Given the description of an element on the screen output the (x, y) to click on. 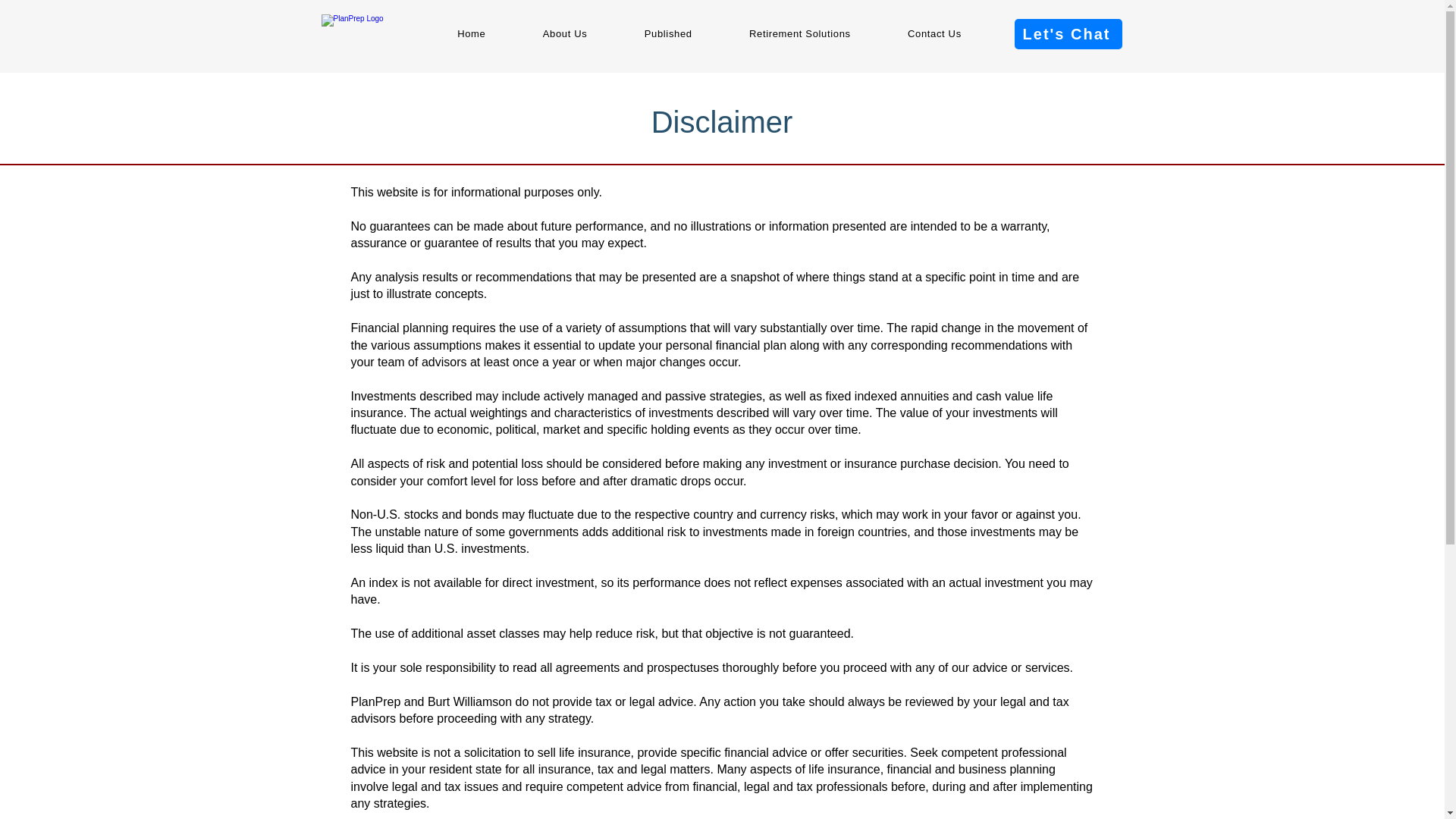
Retirement Solutions (799, 33)
Home (472, 33)
logo.png (360, 33)
About Us (564, 33)
Let's Chat (1068, 33)
Published (667, 33)
Contact Us (934, 33)
